Given the description of an element on the screen output the (x, y) to click on. 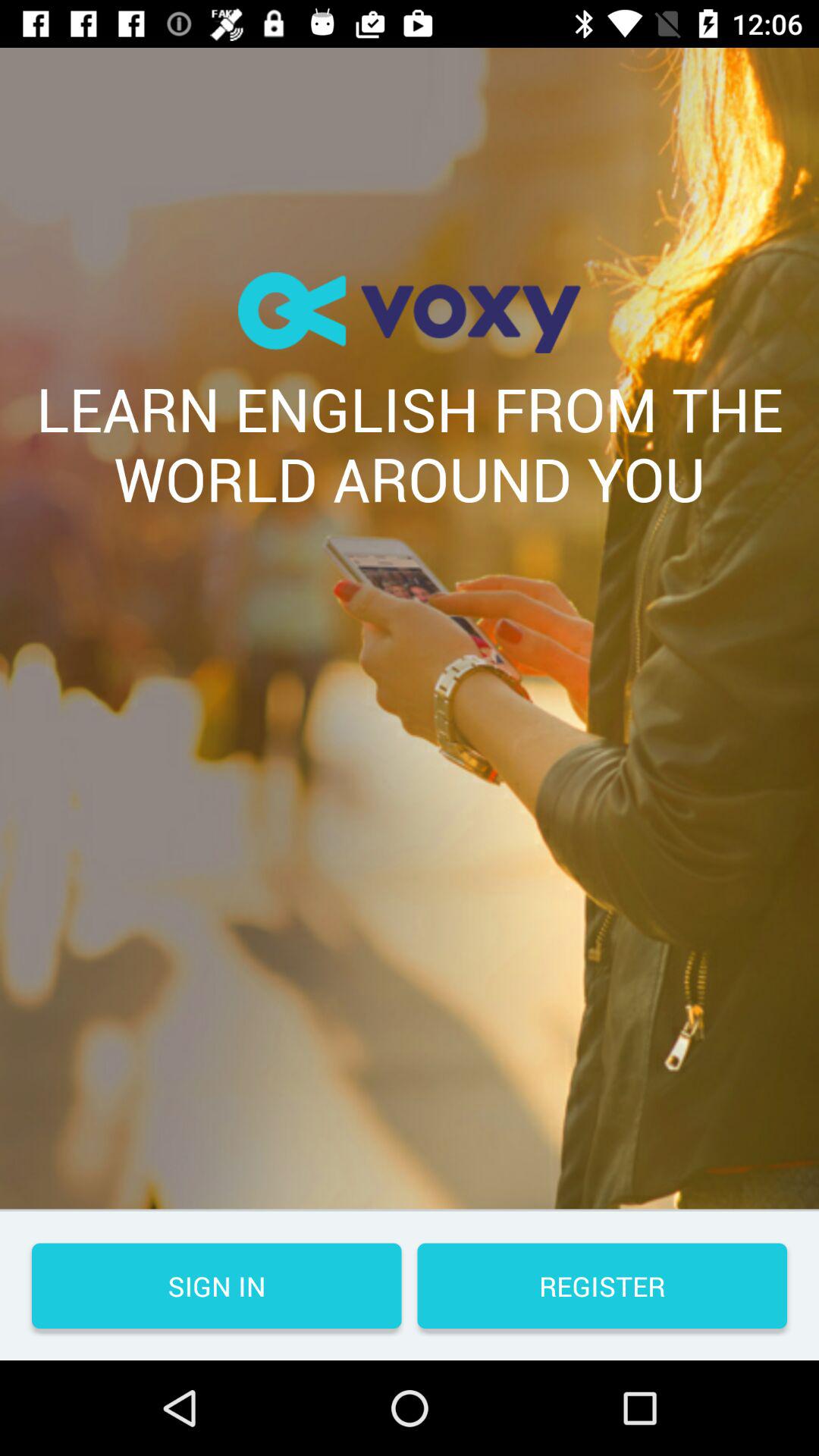
scroll to sign in item (216, 1285)
